Given the description of an element on the screen output the (x, y) to click on. 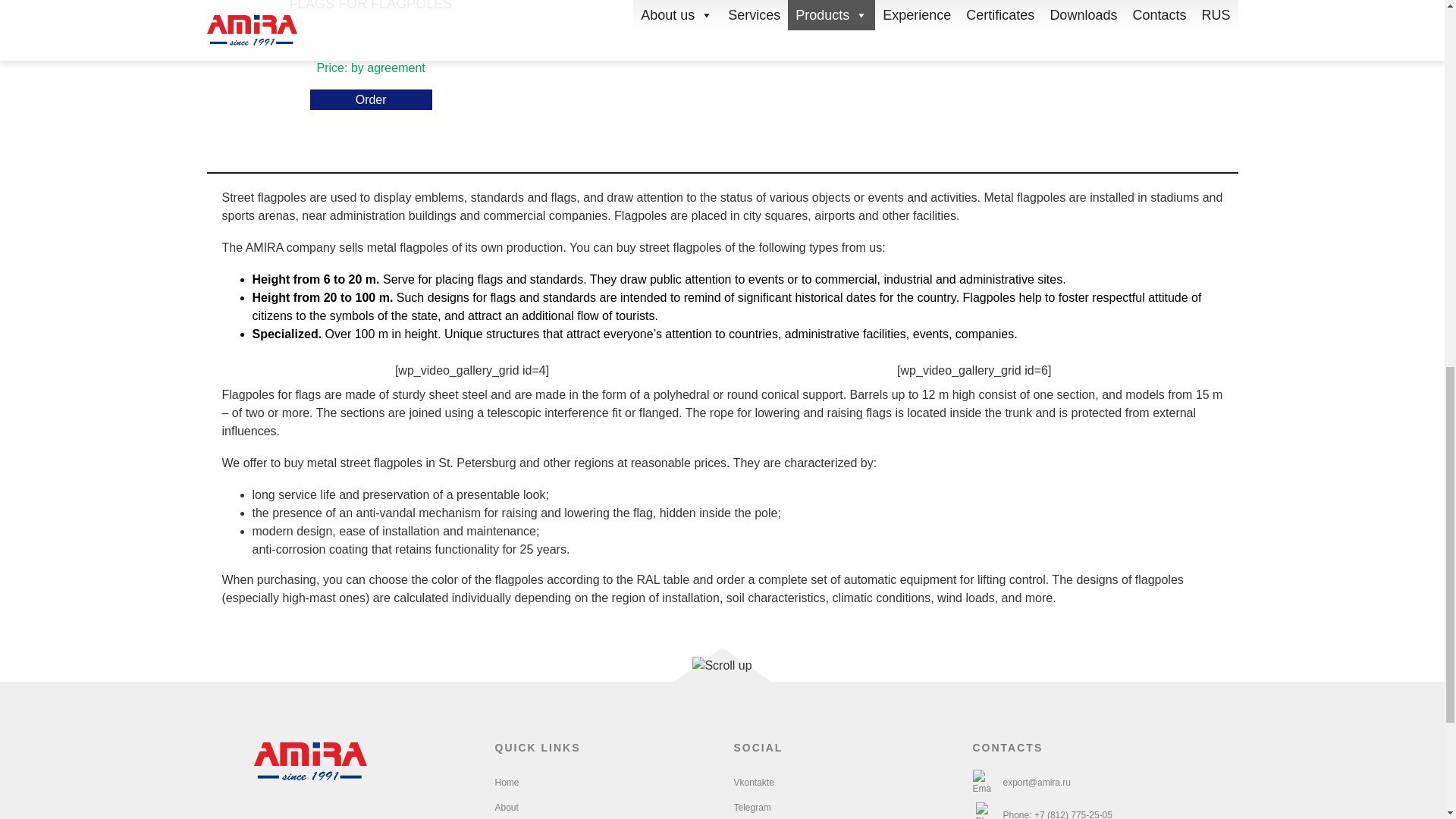
FLAGS FOR FLAGPOLES (370, 22)
Amira Group (310, 761)
Home (506, 782)
About (506, 807)
Order (371, 99)
